Given the description of an element on the screen output the (x, y) to click on. 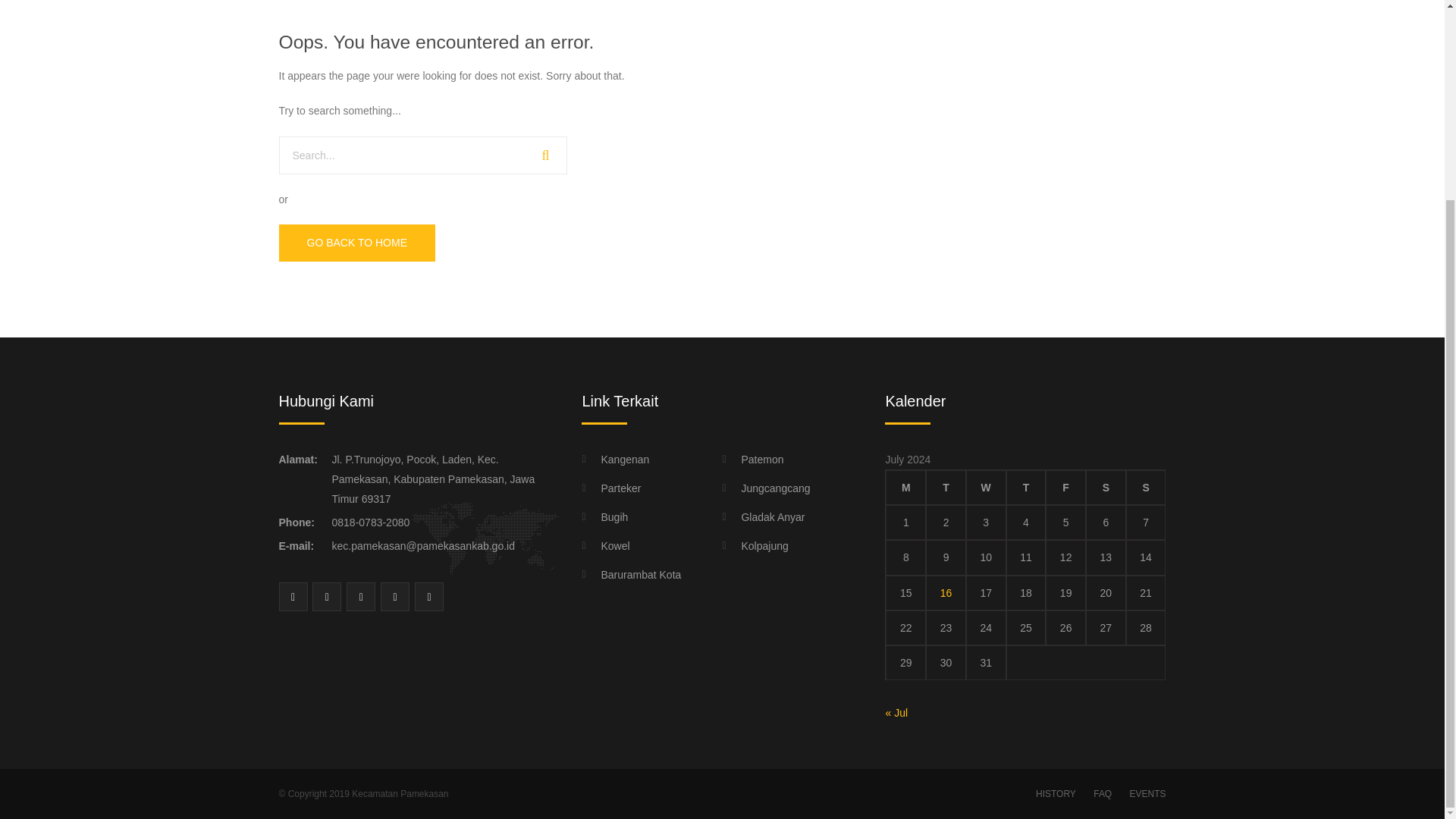
Gladak Anyar (763, 516)
EVENTS (1144, 793)
Monday (905, 487)
Kolpajung (754, 546)
Bugih (603, 516)
HISTORY (1055, 793)
Saturday (1105, 487)
Thursday (1026, 487)
Patemon (752, 459)
FAQ (1102, 793)
Parteker (610, 487)
16 (946, 592)
Tuesday (946, 487)
Jungcangcang (765, 487)
Sunday (1145, 487)
